Given the description of an element on the screen output the (x, y) to click on. 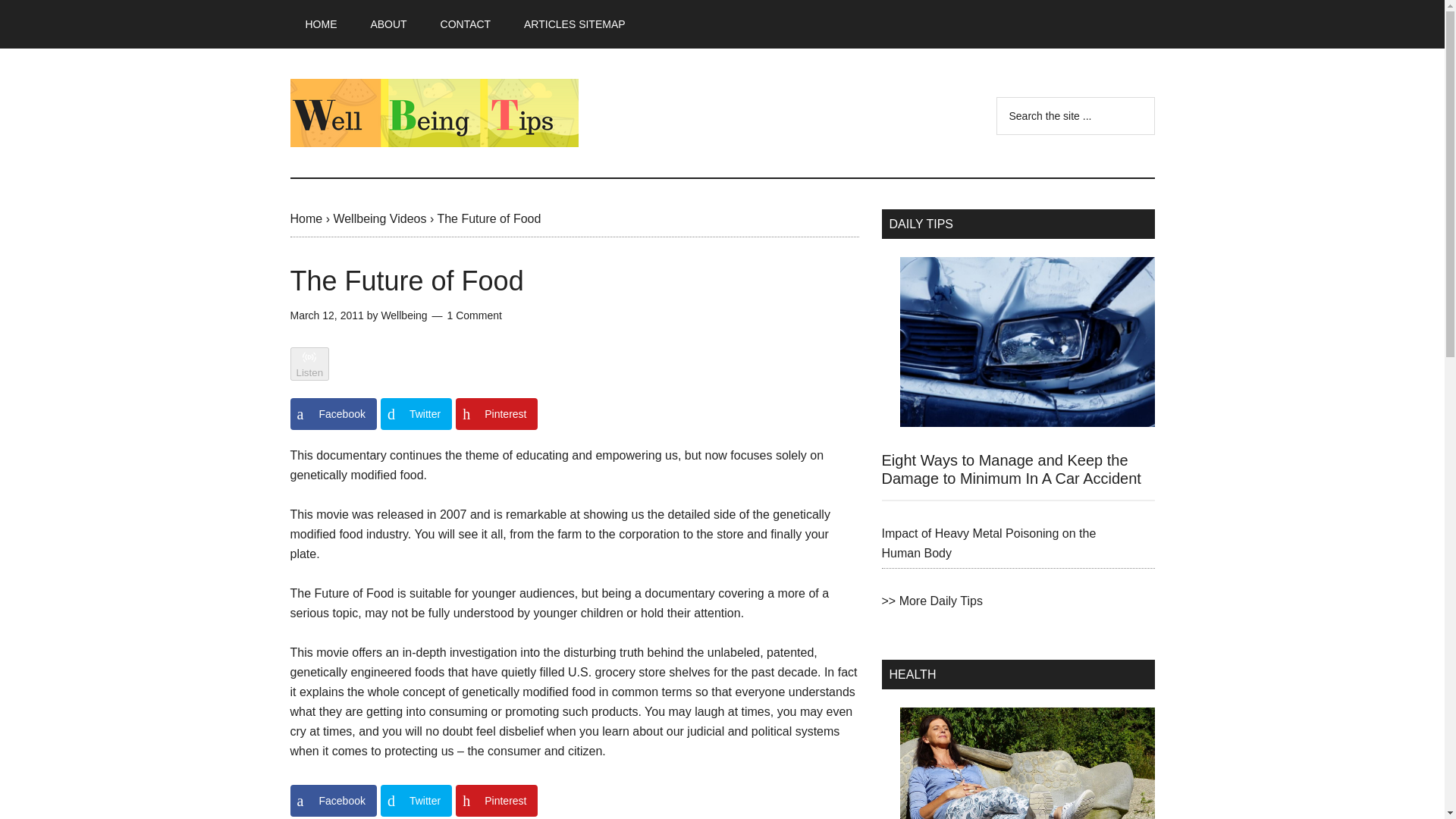
Wellbeing (403, 315)
Twitter (415, 413)
ARTICLES SITEMAP (574, 24)
HOME (320, 24)
Home (305, 218)
Share on Facebook (332, 800)
Impact of Heavy Metal Poisoning on the Human Body (988, 543)
Share on Twitter (415, 800)
Pinterest (496, 413)
Facebook (332, 413)
Facebook (332, 800)
Share on Twitter (415, 413)
